Given the description of an element on the screen output the (x, y) to click on. 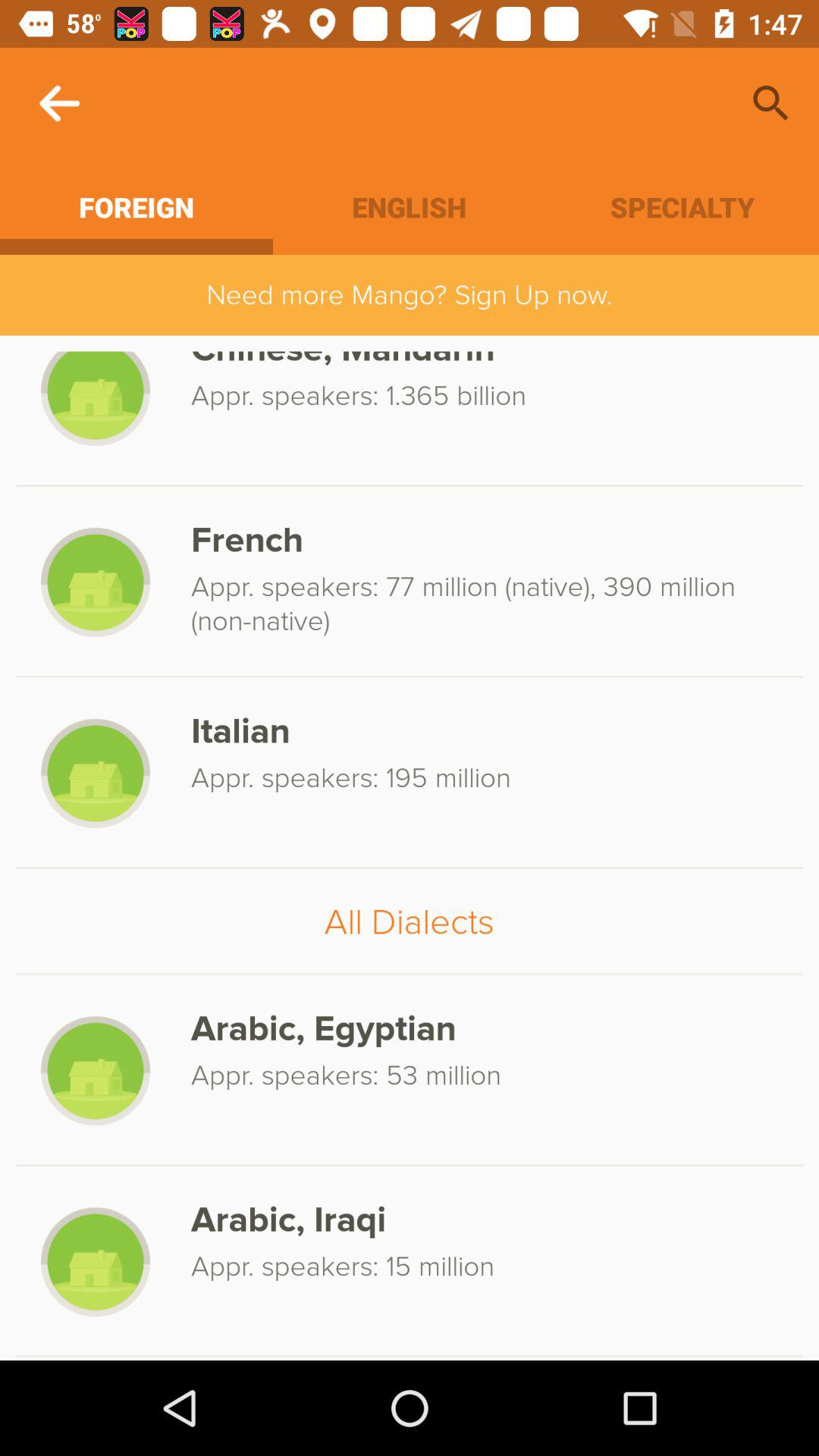
turn off the need more mango (409, 294)
